Given the description of an element on the screen output the (x, y) to click on. 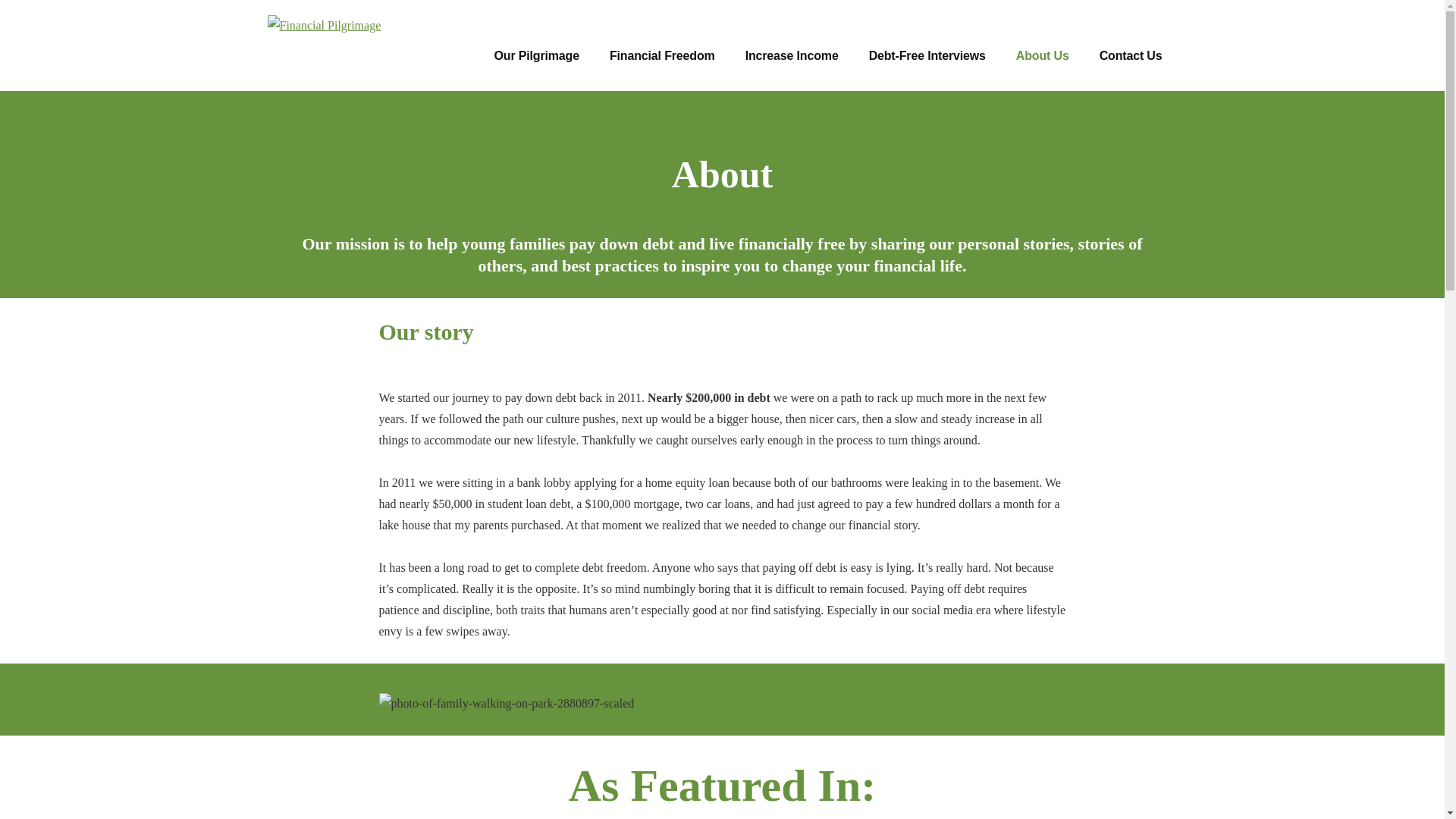
Debt-Free Interviews (927, 56)
Our Pilgrimage (536, 56)
About Us (1042, 56)
Increase Income (791, 56)
Financial Freedom (662, 56)
Contact Us (1130, 56)
